Given the description of an element on the screen output the (x, y) to click on. 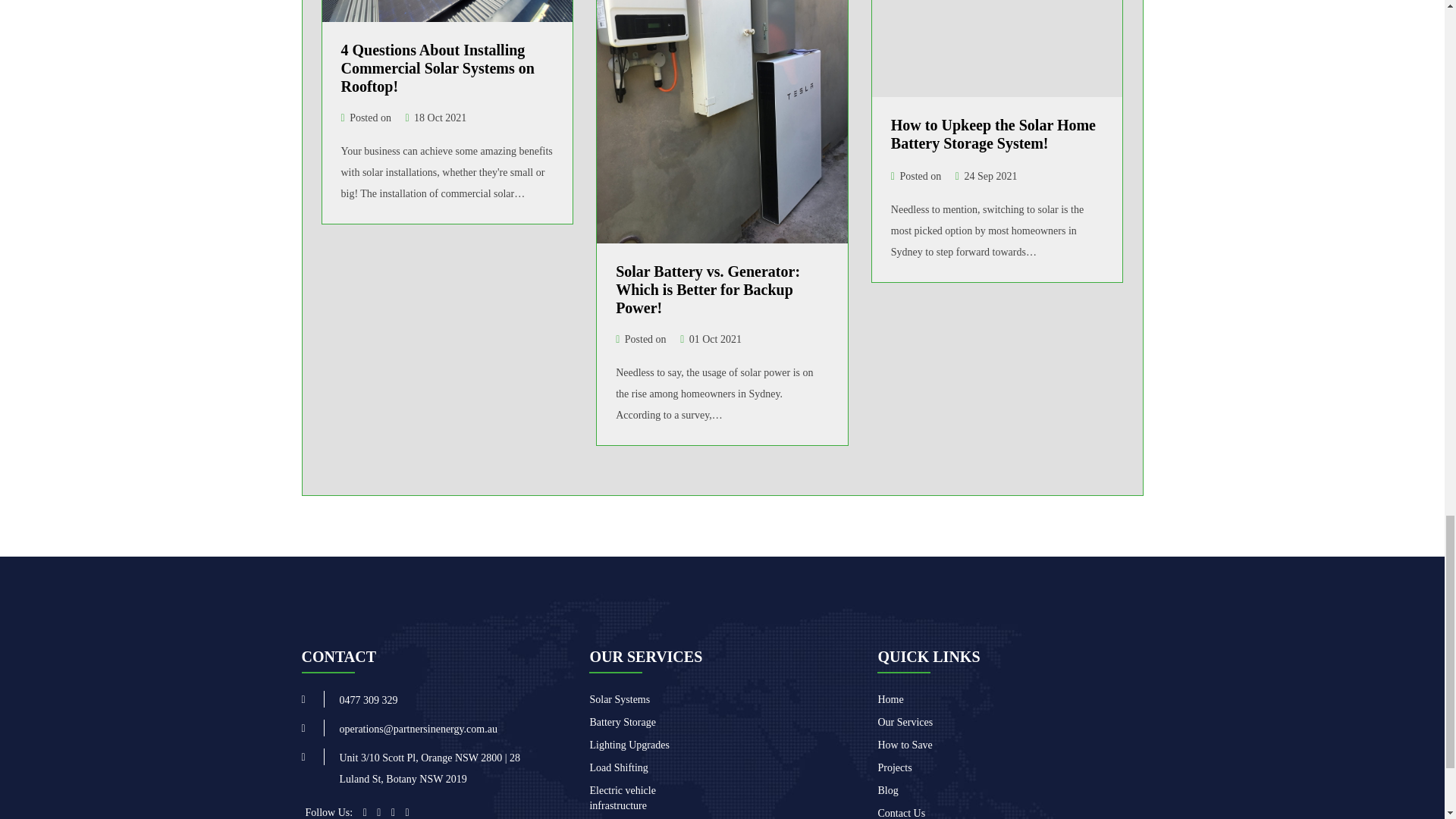
How to Upkeep the Solar Home Battery Storage System! (993, 134)
Battery Storage (622, 722)
Load Shifting (618, 767)
Electric vehicle infrastructure (622, 797)
Projects (894, 767)
How to Save (904, 745)
Lighting Upgrades (628, 745)
Home (889, 699)
Solar Systems (619, 699)
Our Services (905, 722)
Blog (887, 790)
0477 309 329 (368, 699)
